Given the description of an element on the screen output the (x, y) to click on. 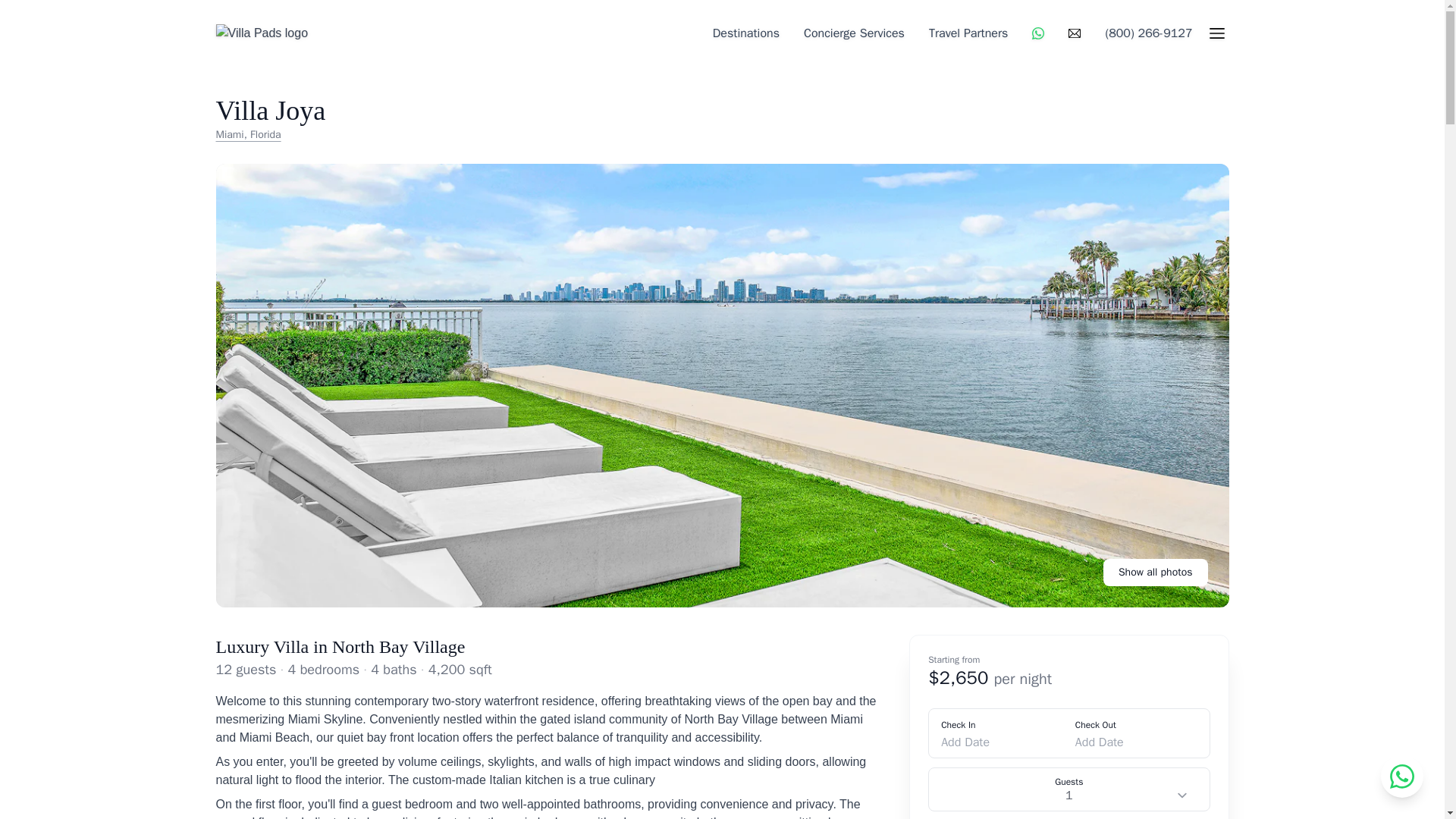
Message on WhatsApp (1038, 33)
Show all photos (1155, 571)
Miami, Florida (269, 134)
Travel Partners (968, 33)
Message on WhatsApp (1401, 776)
Destinations (746, 33)
Concierge Services (854, 33)
